Given the description of an element on the screen output the (x, y) to click on. 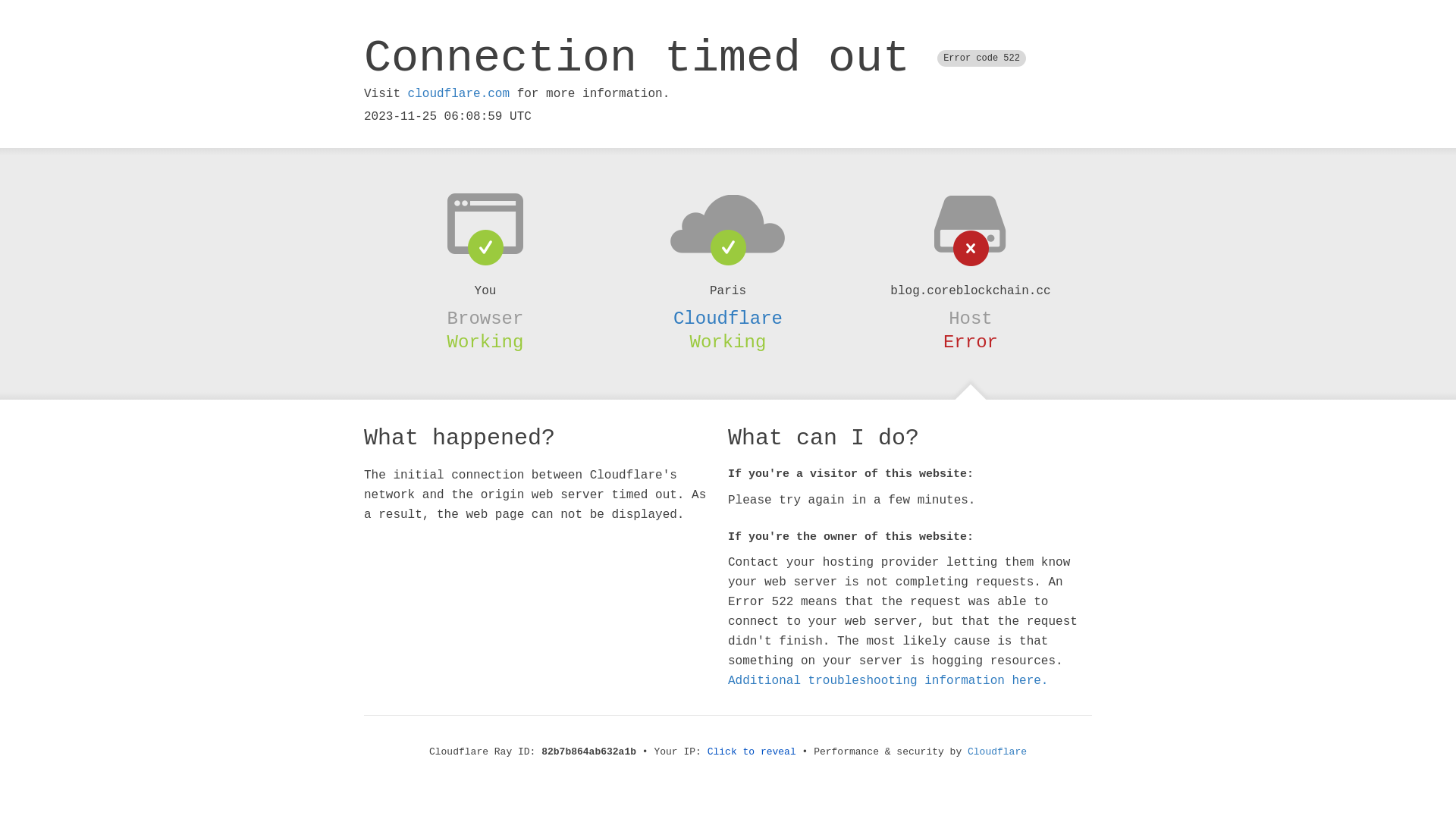
Additional troubleshooting information here. Element type: text (888, 680)
cloudflare.com Element type: text (458, 93)
Cloudflare Element type: text (727, 318)
Click to reveal Element type: text (751, 751)
Cloudflare Element type: text (996, 751)
